Given the description of an element on the screen output the (x, y) to click on. 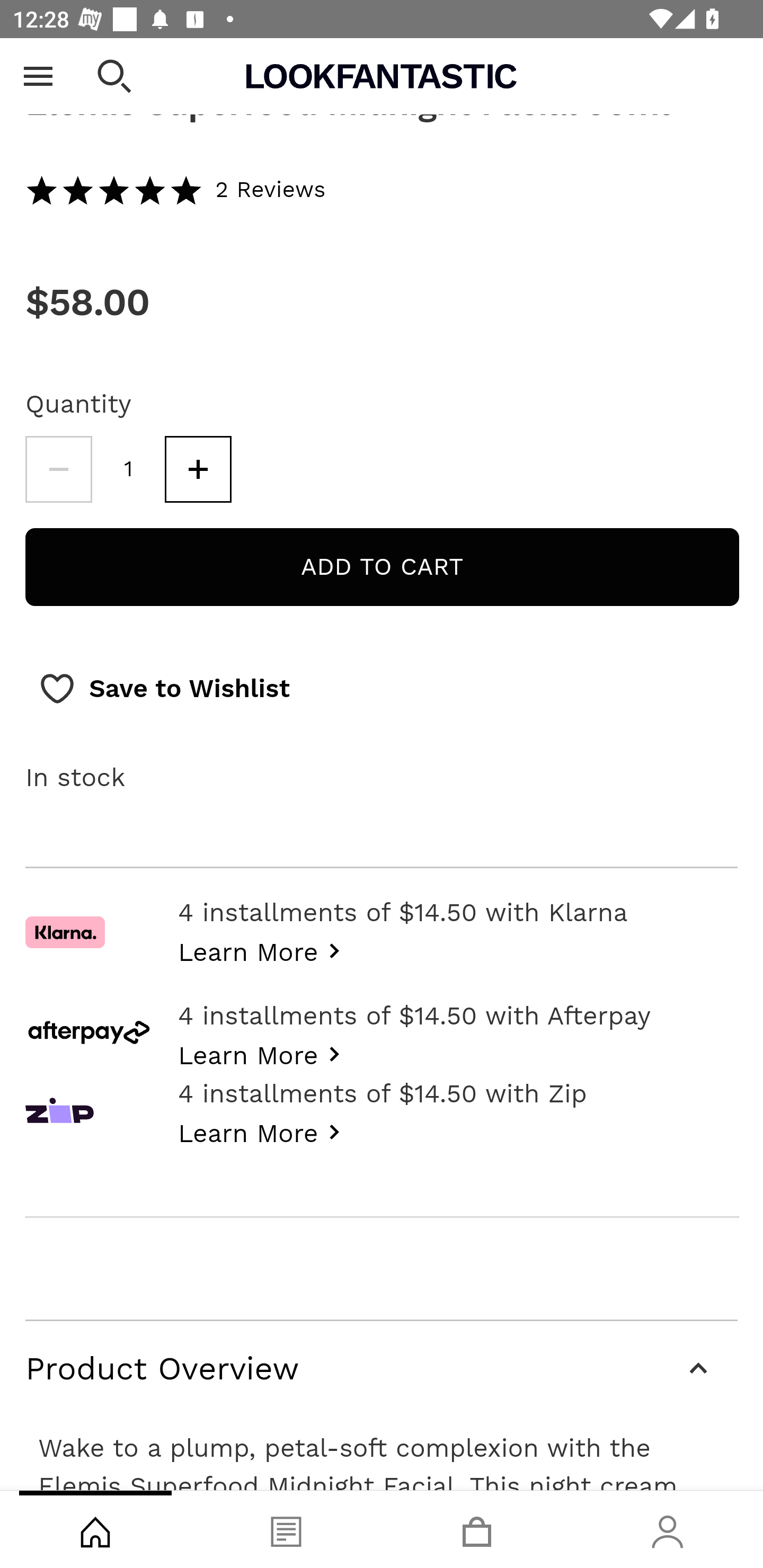
Decrease quantity (58, 470)
1, Quantity (128, 470)
Increase quantity (197, 470)
Add to cart (382, 568)
Save to Wishlist (164, 690)
Learn More about klarna_slice (263, 950)
Learn More about afterpay (263, 1054)
Learn More about quadpay (263, 1131)
Product Overview (381, 1370)
Shop, tab, 1 of 4 (95, 1529)
Blog, tab, 2 of 4 (285, 1529)
Basket, tab, 3 of 4 (476, 1529)
Account, tab, 4 of 4 (667, 1529)
